Given the description of an element on the screen output the (x, y) to click on. 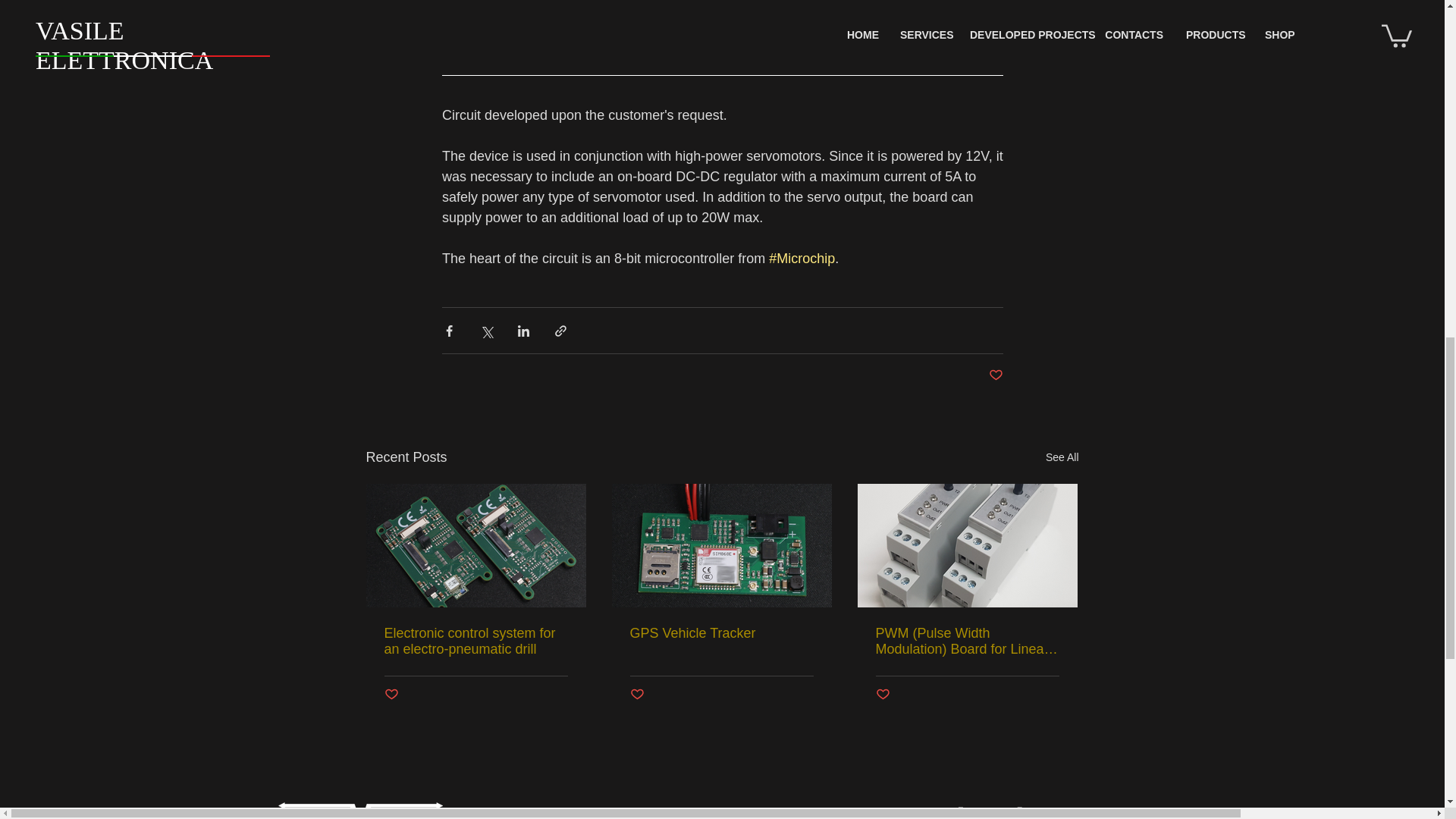
GPS Vehicle Tracker (720, 633)
Post not marked as liked (882, 694)
See All (1061, 457)
Post not marked as liked (635, 694)
Post not marked as liked (390, 694)
Post not marked as liked (995, 375)
Electronic control system for an electro-pneumatic drill (475, 641)
